Given the description of an element on the screen output the (x, y) to click on. 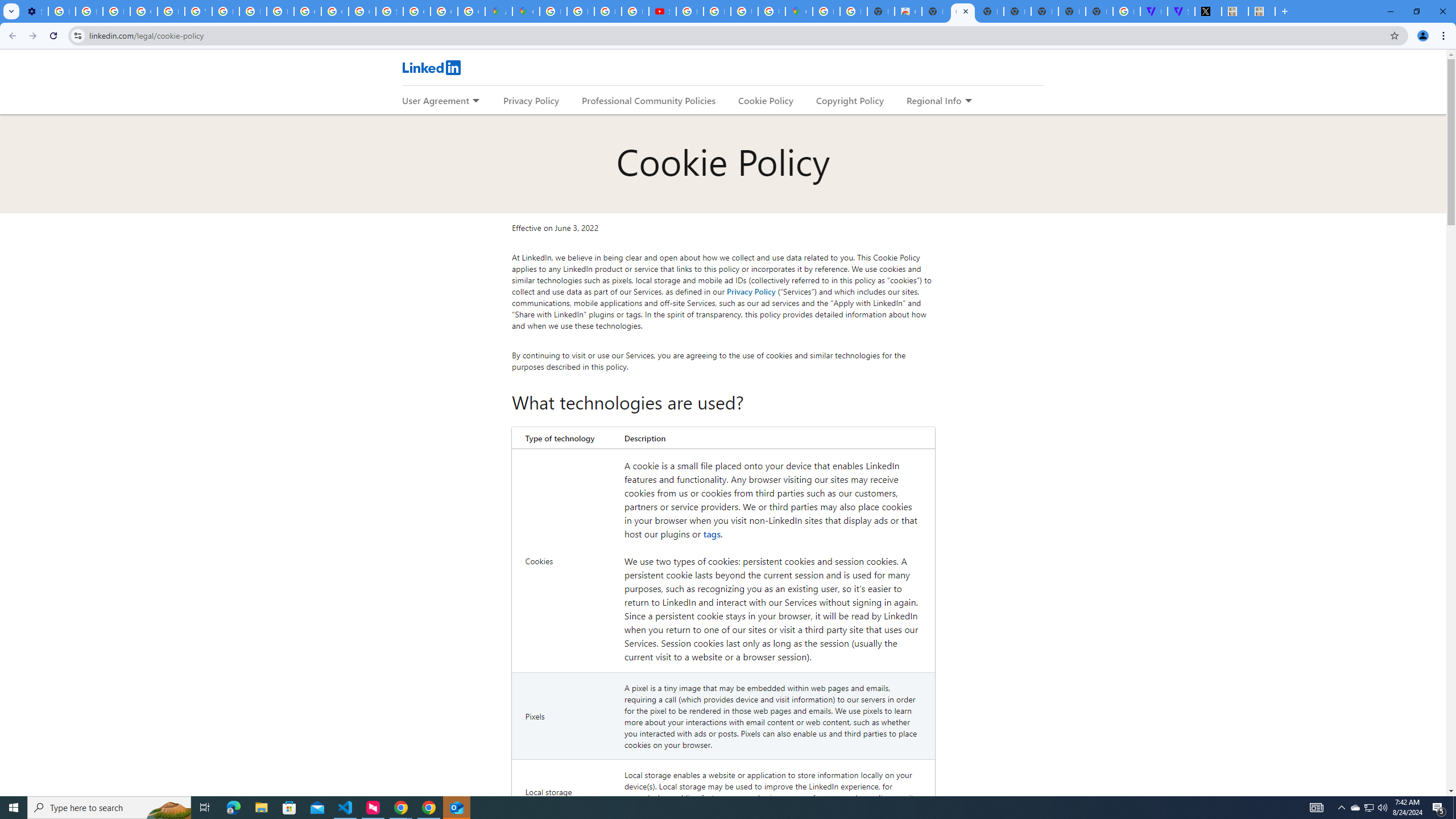
Privacy Policy (751, 290)
User Agreement (434, 100)
MILEY CYRUS. (1235, 11)
Copyright Policy (849, 100)
YouTube (197, 11)
New Tab (1284, 11)
Close (966, 11)
Learn how to find your photos - Google Photos Help (88, 11)
Cookie Policy (765, 100)
How Chrome protects your passwords - Google Chrome Help (690, 11)
Settings - Customize profile (34, 11)
